Given the description of an element on the screen output the (x, y) to click on. 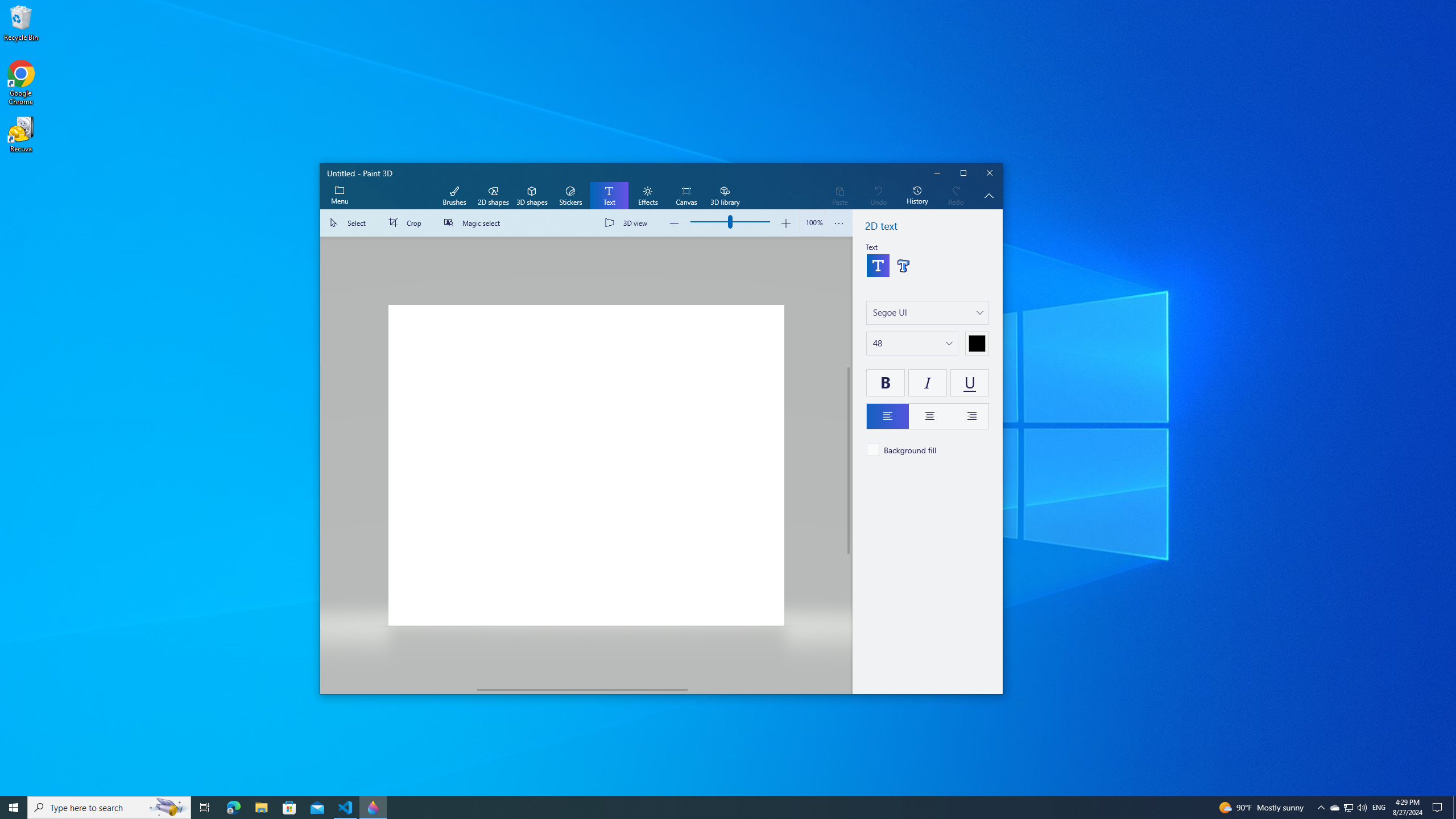
Choose a color (976, 343)
Change text size (912, 343)
Crop (407, 222)
Left align text (887, 416)
Hide description (989, 195)
Zoom in (785, 222)
Canvas (686, 195)
2D text (877, 264)
Magic select (474, 222)
3D view (628, 222)
Undo (878, 195)
3D library (725, 195)
